Given the description of an element on the screen output the (x, y) to click on. 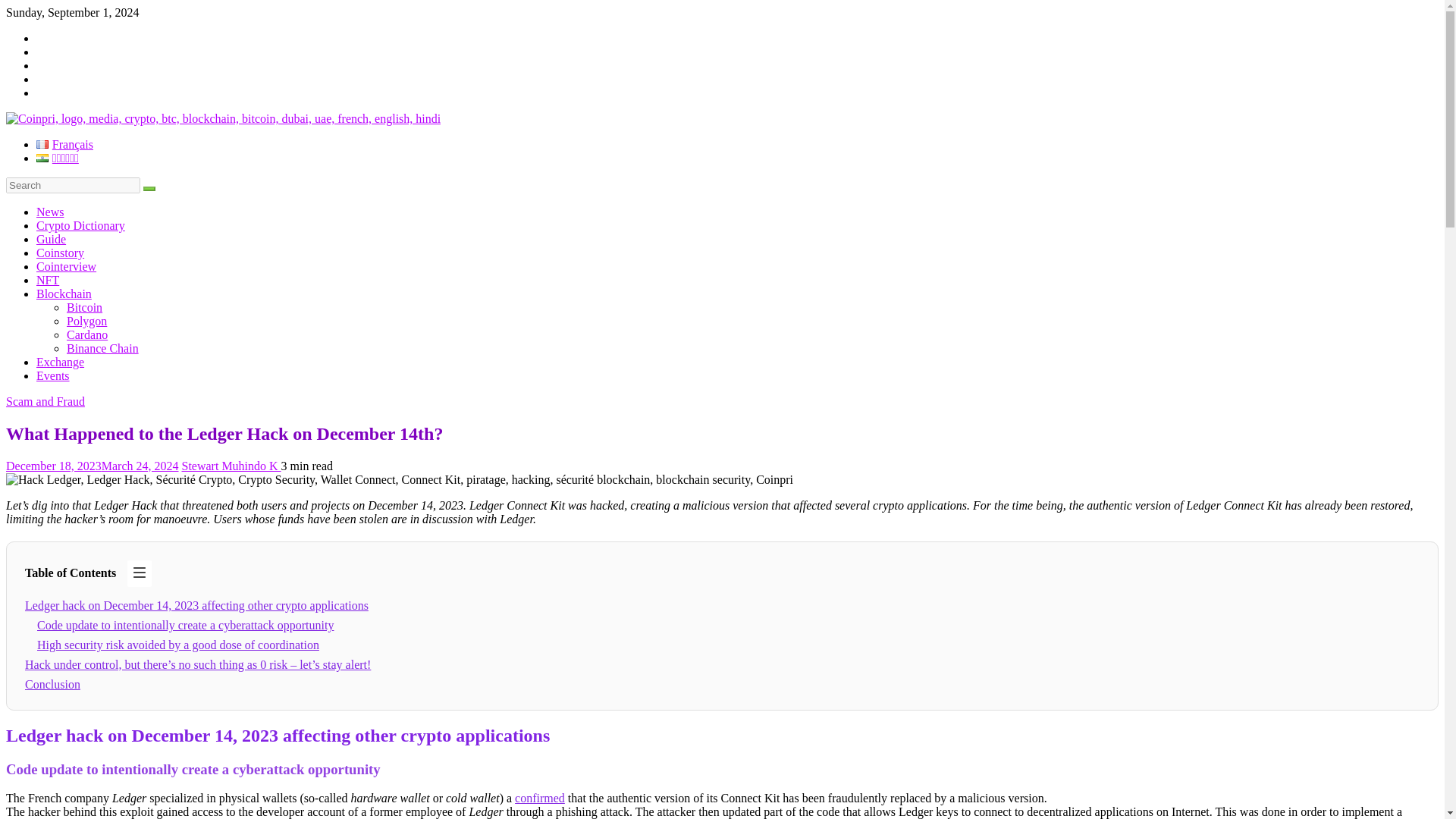
1:31 am (92, 465)
Conclusion (52, 684)
December 18, 2023March 24, 2024 (92, 465)
Crypto Dictionary (80, 225)
Coinstory (60, 252)
Polygon (86, 320)
confirmed (539, 797)
What Happened to the Ledger Hack on December 14th? (399, 479)
